Given the description of an element on the screen output the (x, y) to click on. 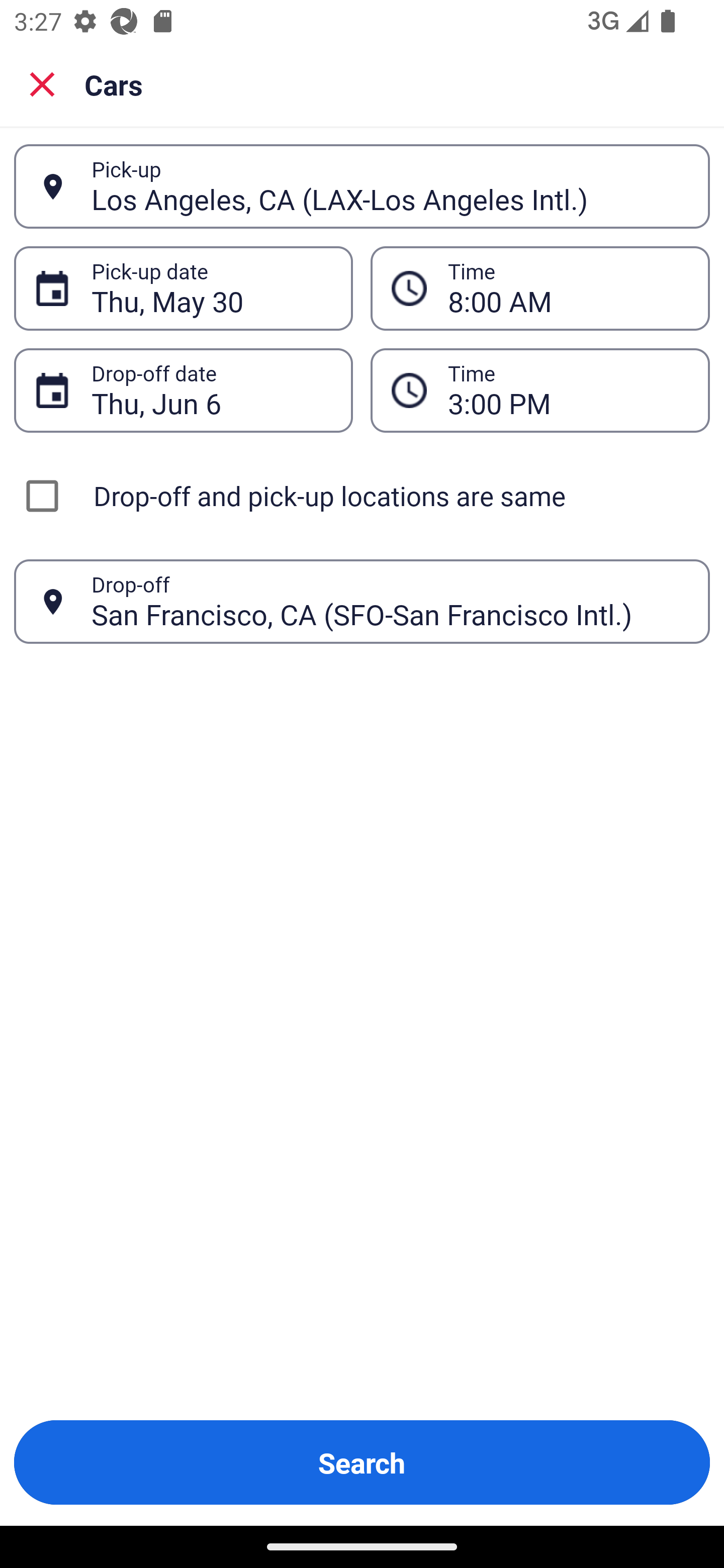
Close search screen (41, 83)
Los Angeles, CA (LAX-Los Angeles Intl.) Pick-up (361, 186)
Los Angeles, CA (LAX-Los Angeles Intl.) (389, 186)
Thu, May 30 Pick-up date (183, 288)
8:00 AM (540, 288)
Thu, May 30 (211, 288)
8:00 AM (568, 288)
Thu, Jun 6 Drop-off date (183, 390)
3:00 PM (540, 390)
Thu, Jun 6 (211, 390)
3:00 PM (568, 390)
Drop-off and pick-up locations are same (361, 495)
San Francisco, CA (SFO-San Francisco Intl.) (389, 601)
Search Button Search (361, 1462)
